Given the description of an element on the screen output the (x, y) to click on. 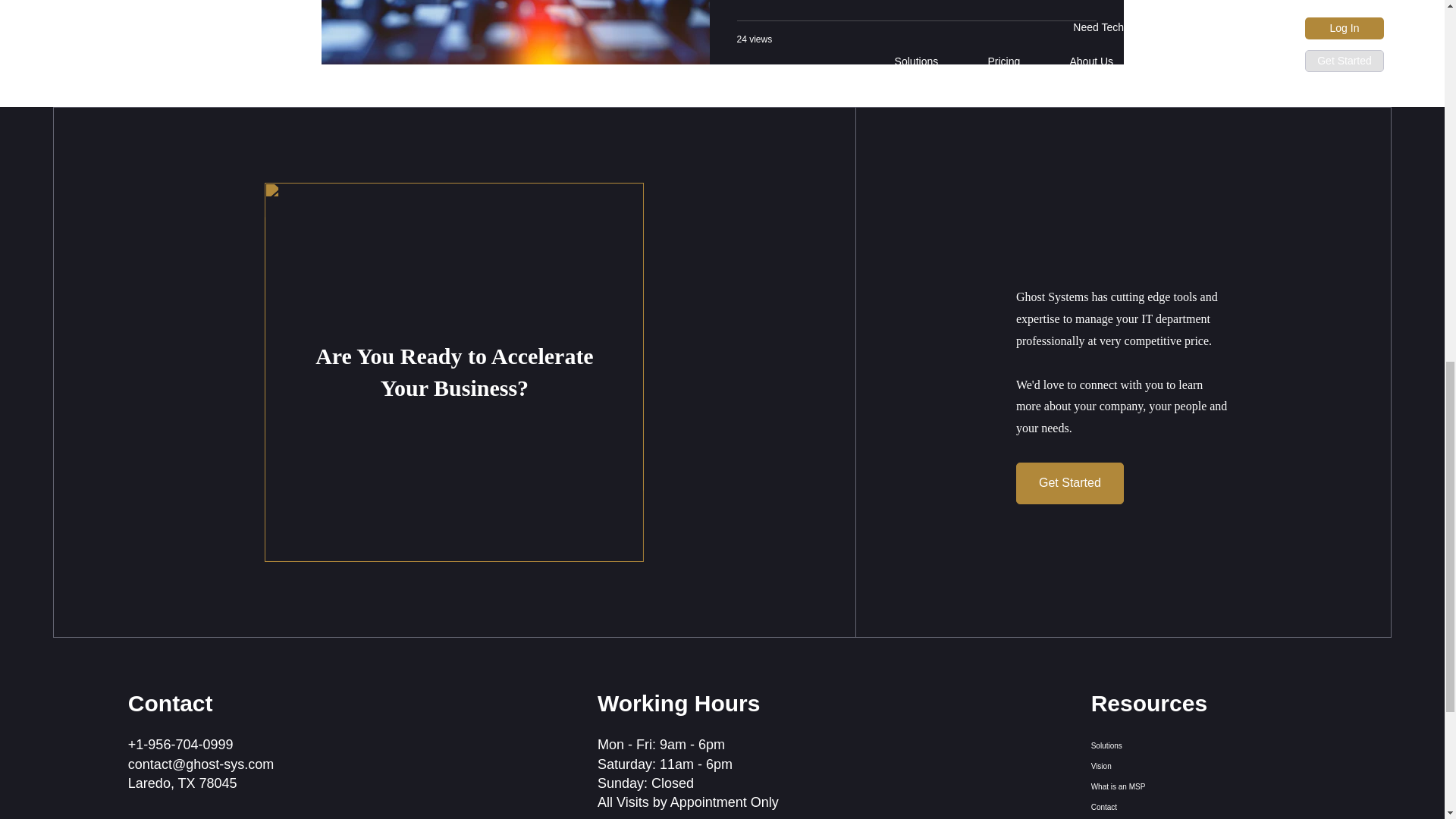
Contact (1147, 806)
What is an MSP (1147, 786)
Blog (1147, 818)
Vision (1147, 765)
Get Started (1070, 483)
Solutions (1147, 745)
